Given the description of an element on the screen output the (x, y) to click on. 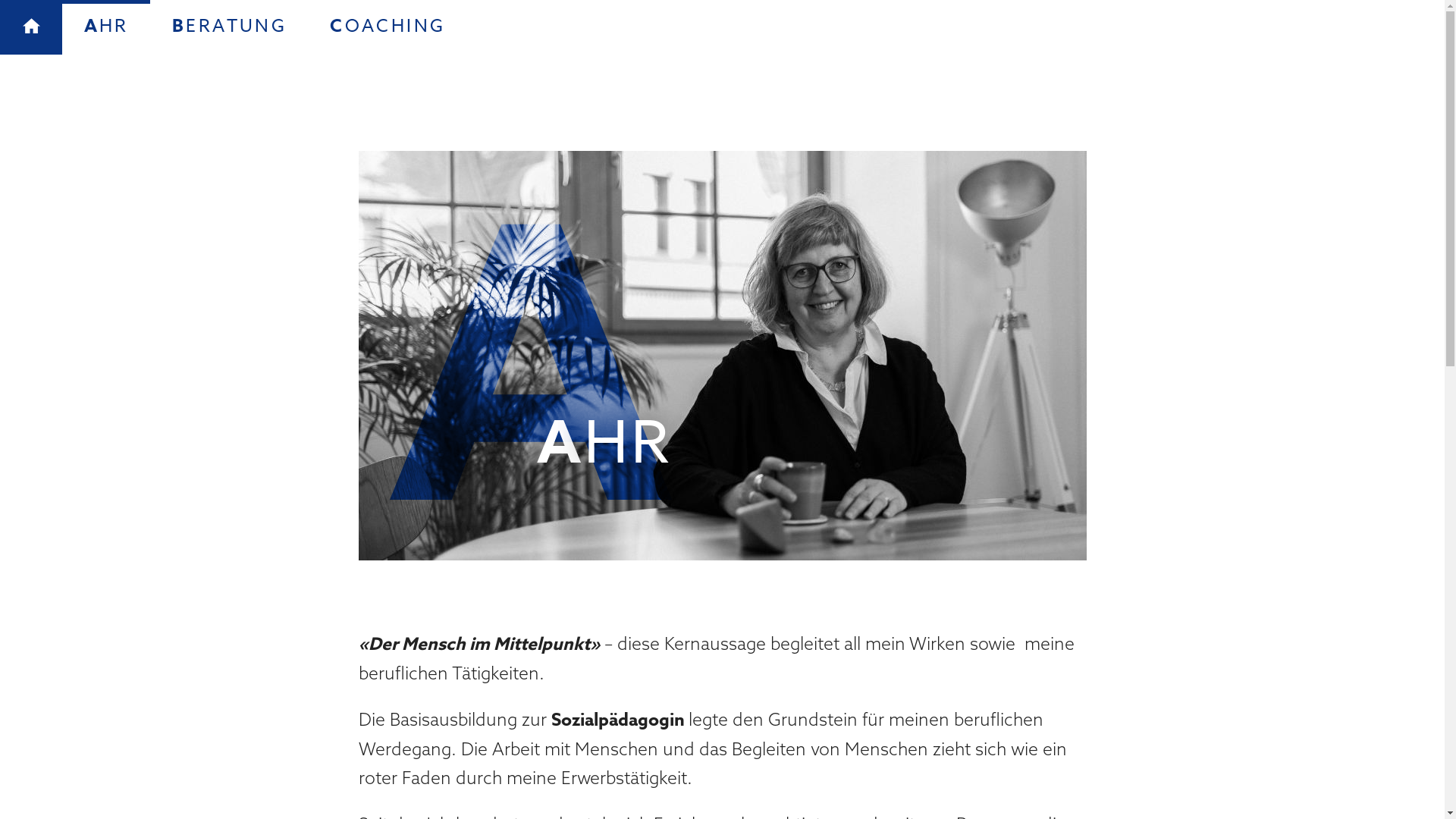
BERATUNG Element type: text (228, 27)
AHR Element type: text (106, 27)
COACHING Element type: text (387, 27)
